Given the description of an element on the screen output the (x, y) to click on. 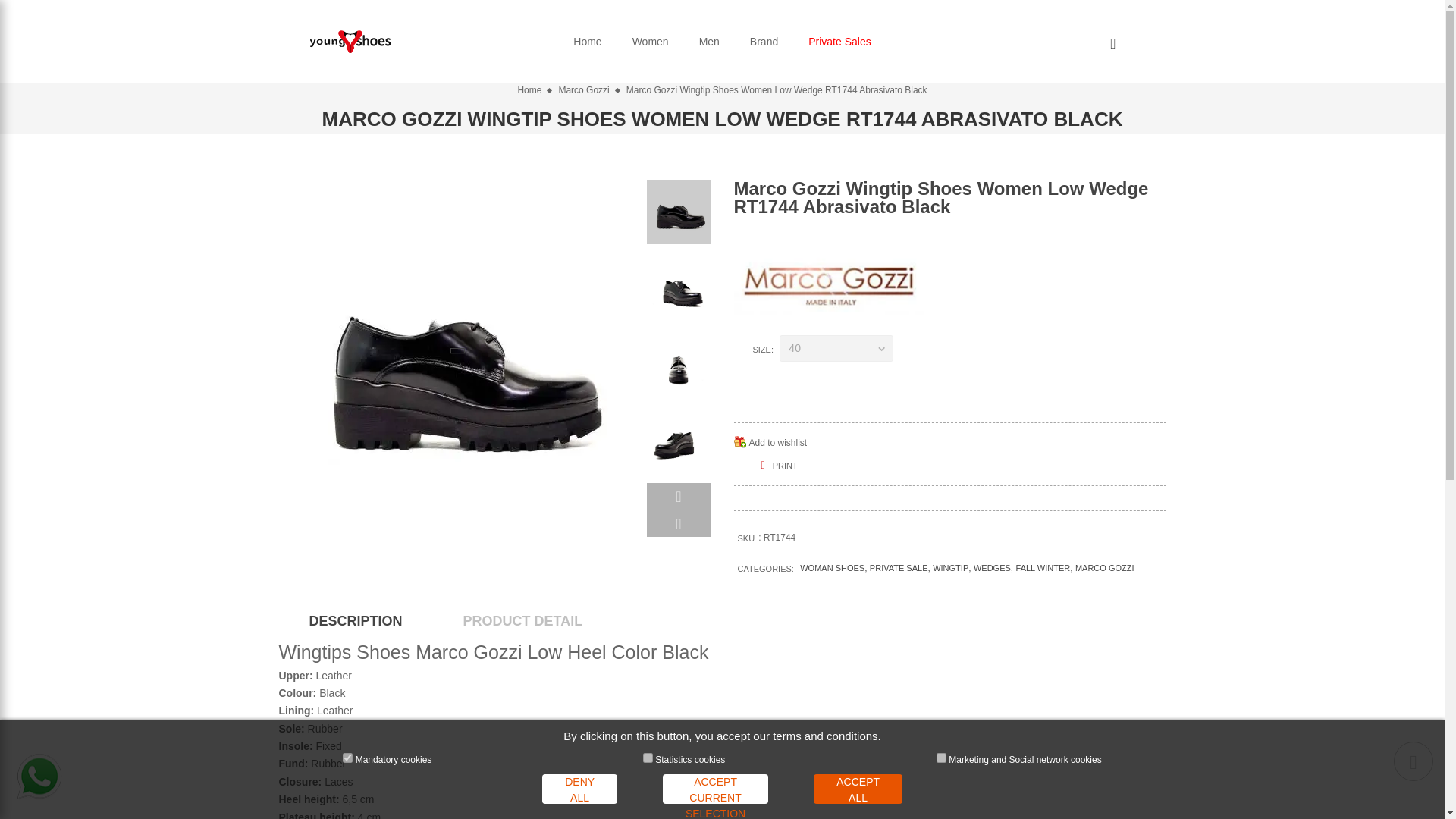
Women (650, 41)
Home (586, 41)
on (647, 757)
Women (650, 41)
Home (586, 41)
on (347, 757)
on (941, 757)
